Given the description of an element on the screen output the (x, y) to click on. 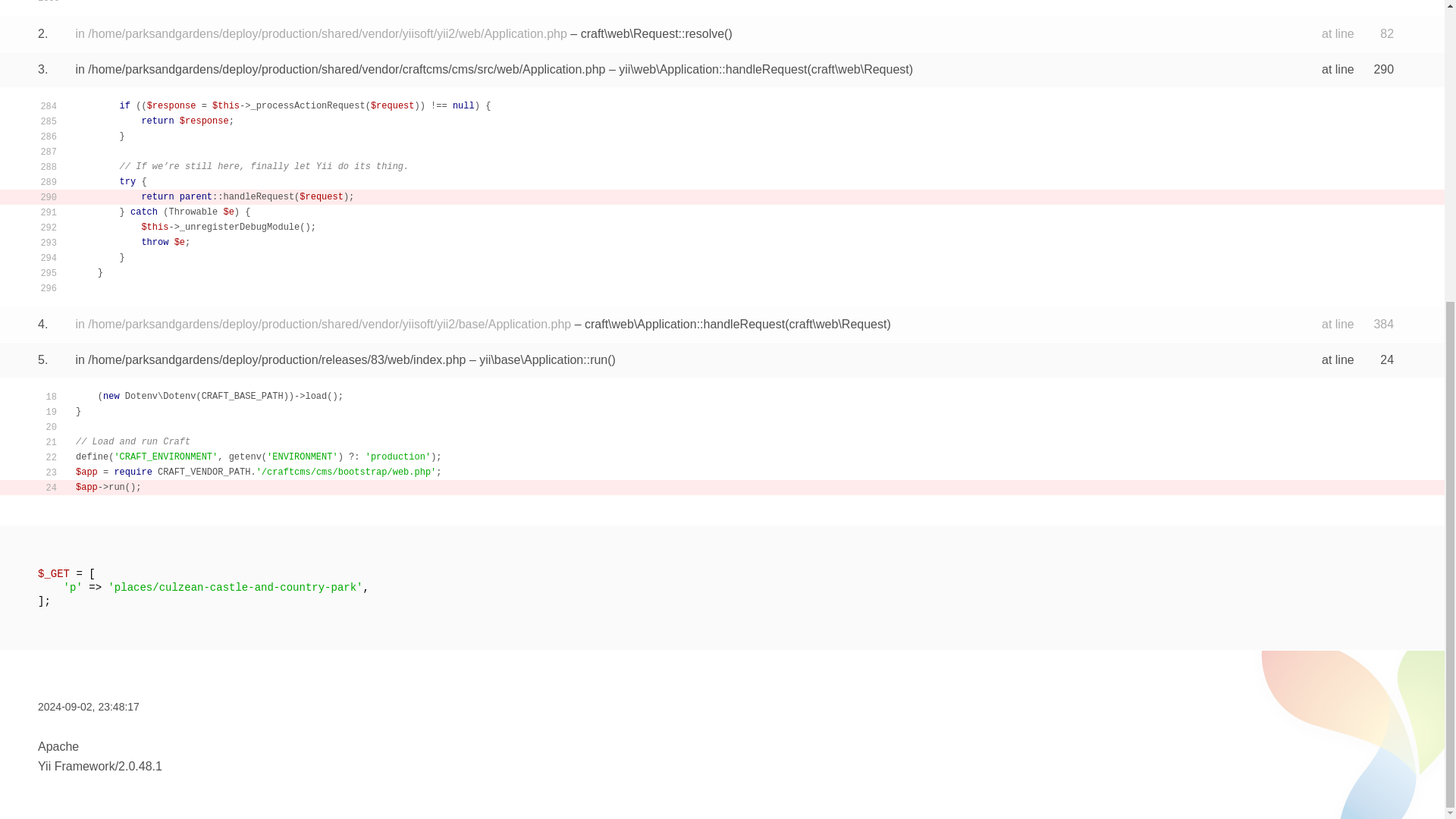
Apache (57, 746)
2.0.48.1 (139, 766)
Yii Framework (76, 766)
